Given the description of an element on the screen output the (x, y) to click on. 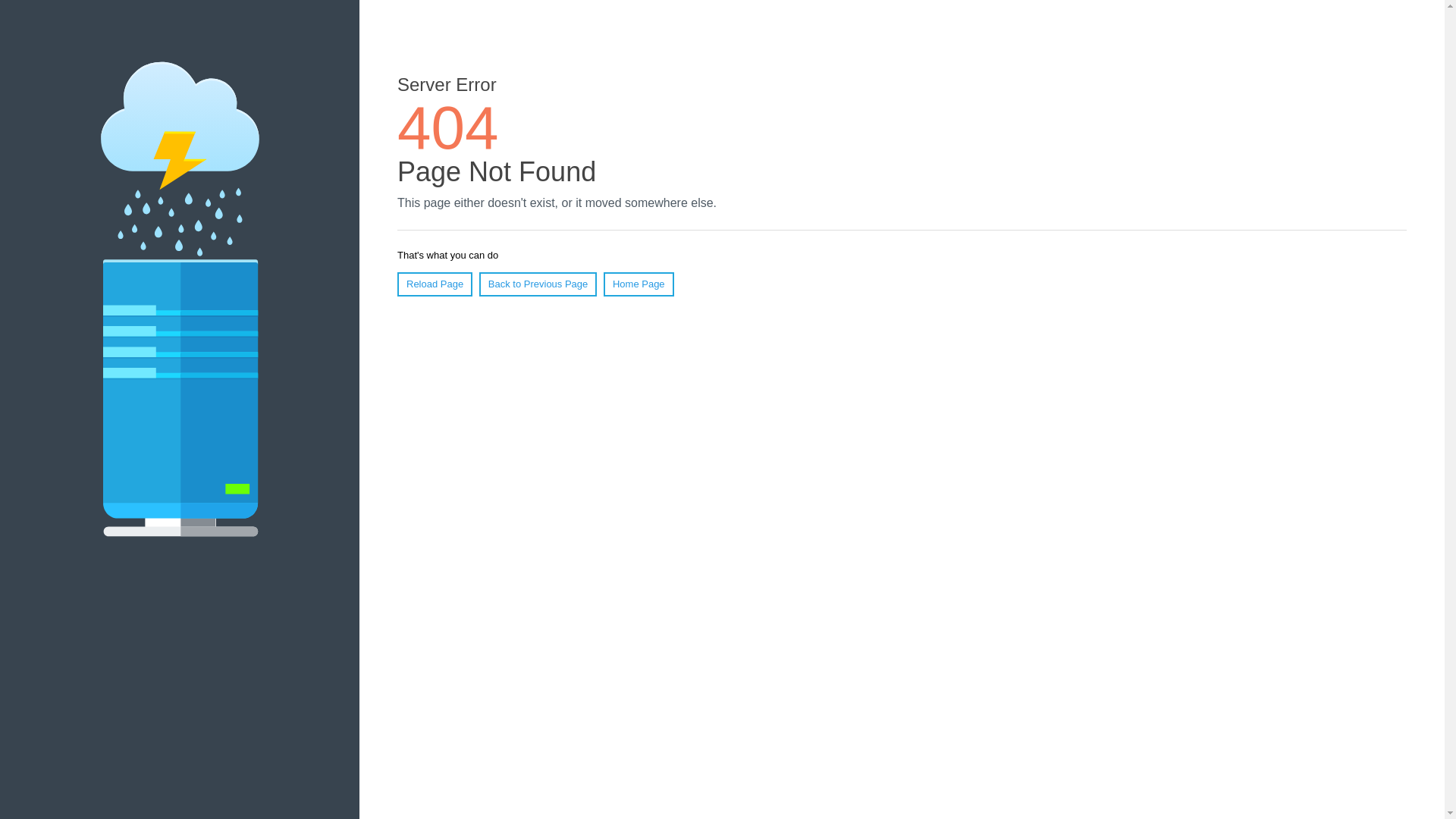
Home Page Element type: text (638, 284)
Reload Page Element type: text (434, 284)
Back to Previous Page Element type: text (538, 284)
